Given the description of an element on the screen output the (x, y) to click on. 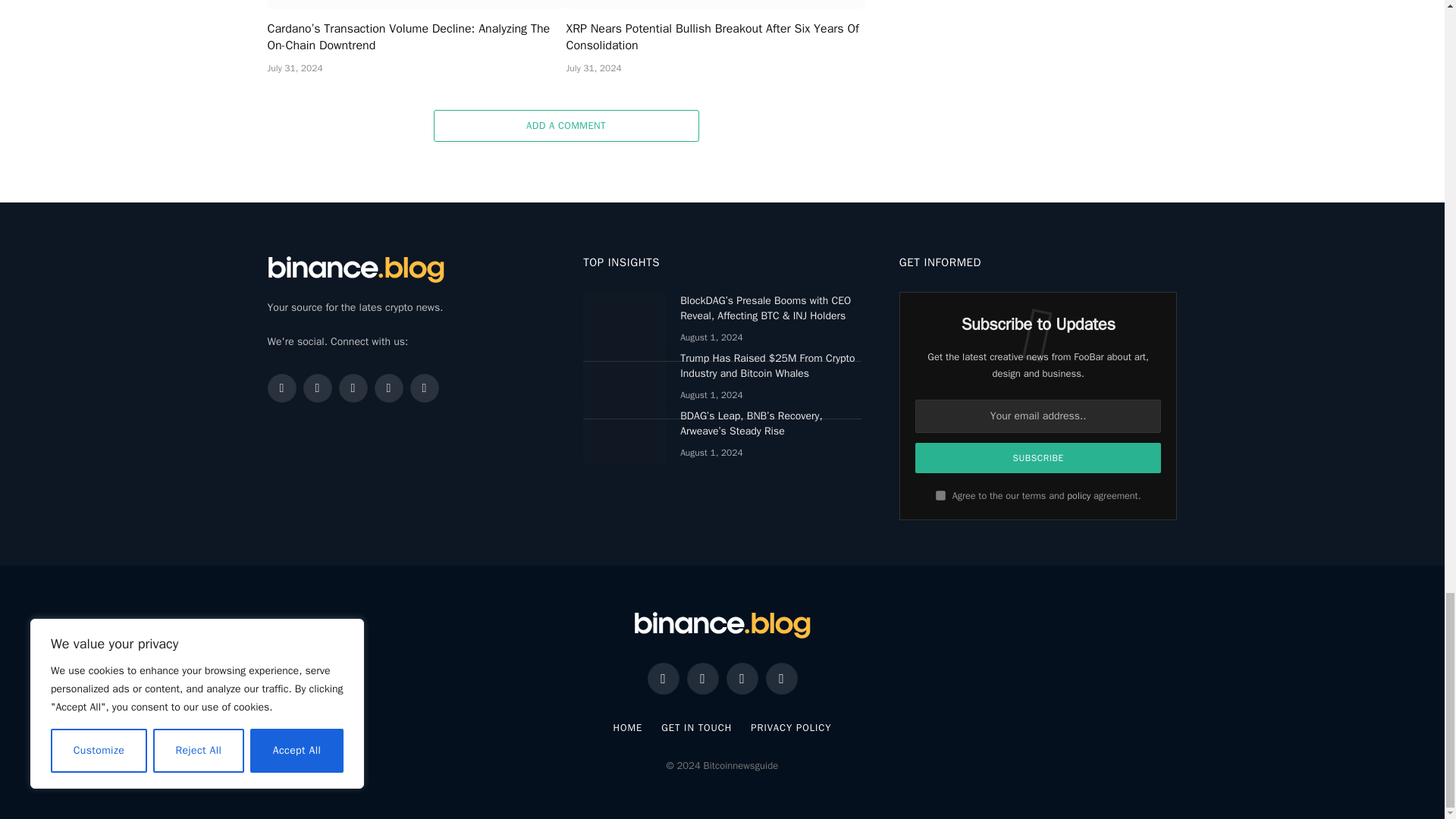
on (940, 495)
Subscribe (1038, 458)
